Given the description of an element on the screen output the (x, y) to click on. 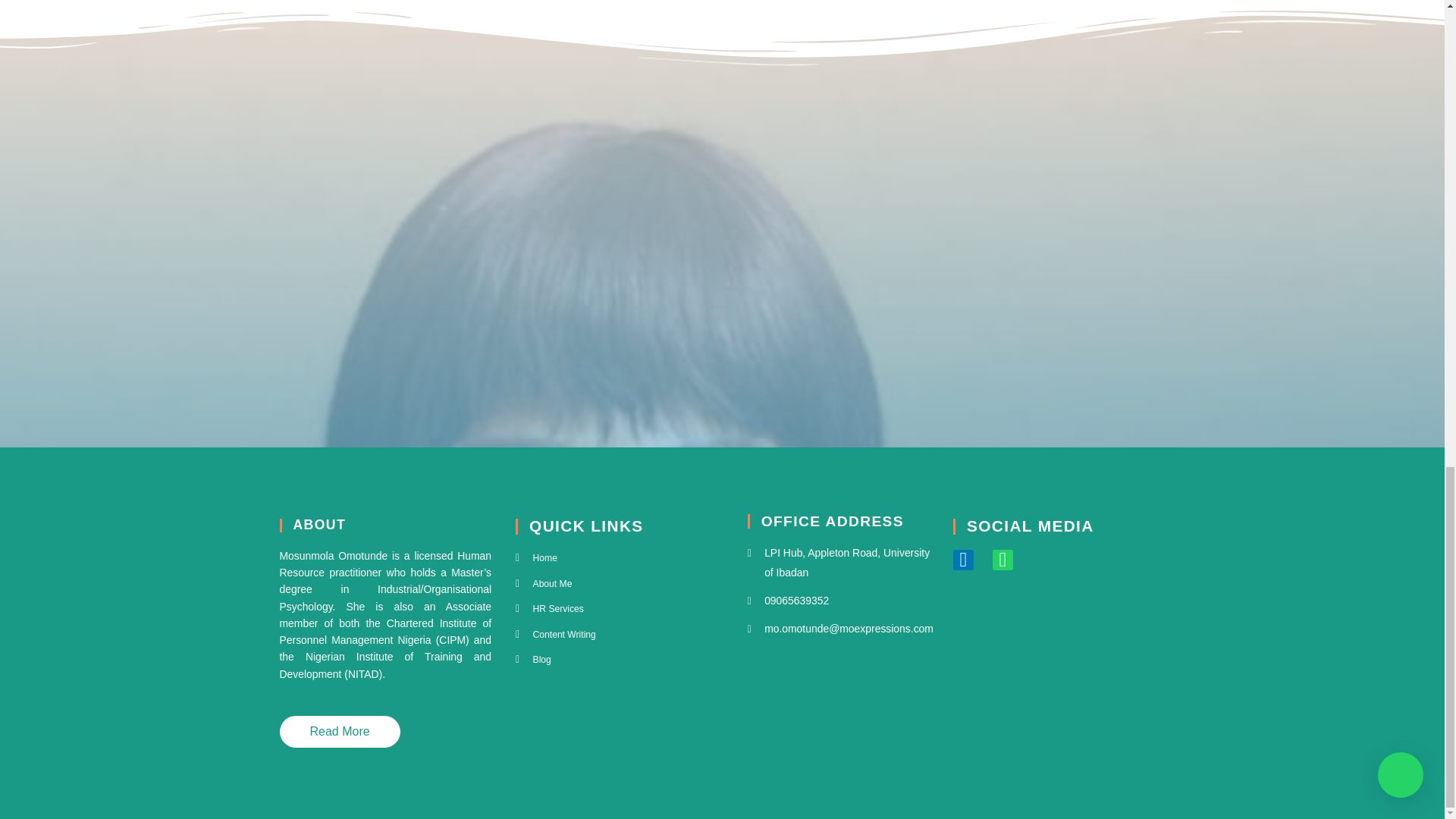
Content Writing (621, 634)
Read More (338, 731)
About Me (621, 583)
Blog (621, 659)
HR Services (621, 608)
Home (621, 557)
